Given the description of an element on the screen output the (x, y) to click on. 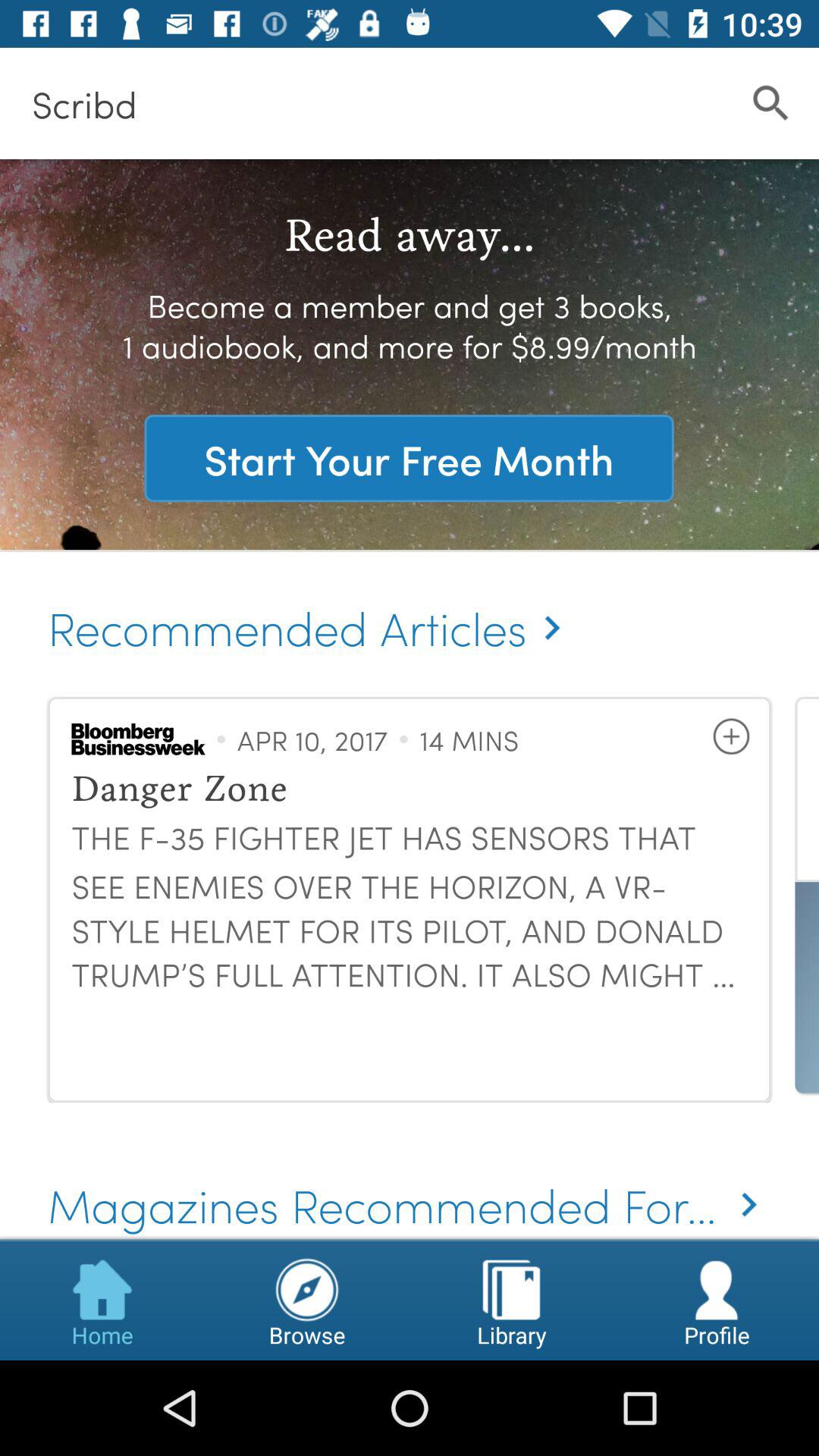
choose the item to the right of the 14 mins icon (731, 736)
